Given the description of an element on the screen output the (x, y) to click on. 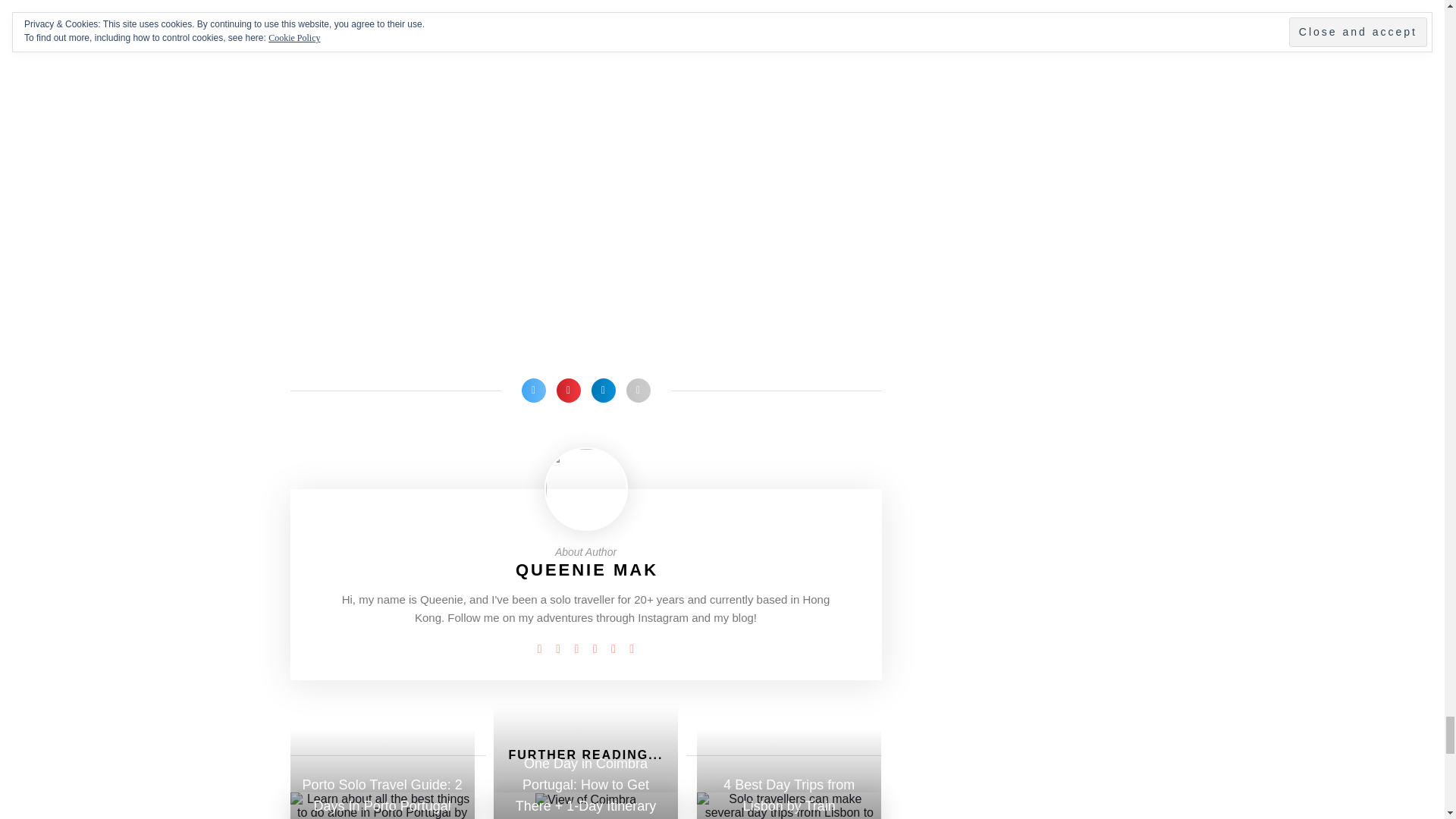
Posts by queenie mak (586, 569)
